Given the description of an element on the screen output the (x, y) to click on. 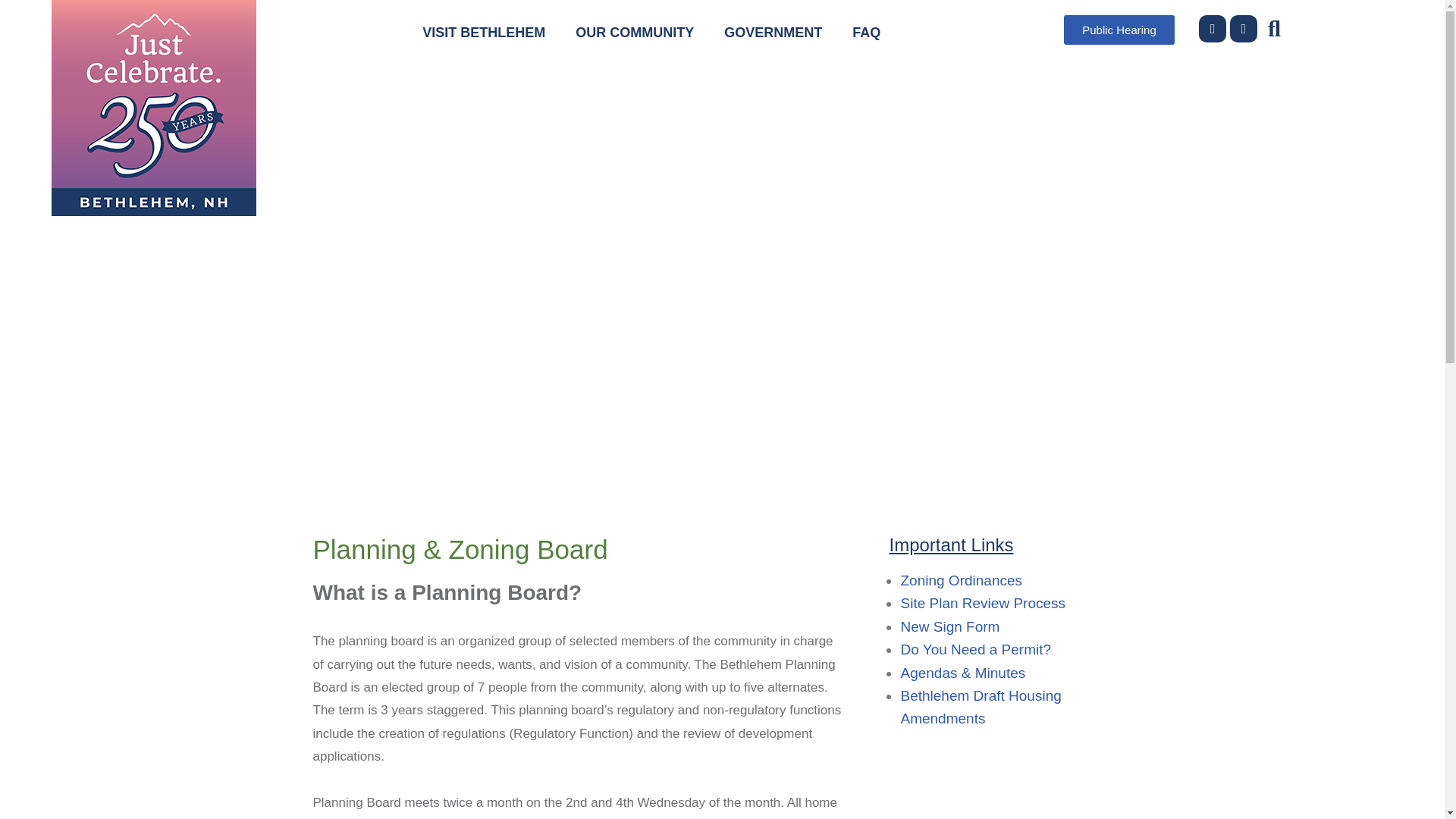
Skip to content (11, 31)
FAQ (866, 32)
GOVERNMENT (773, 32)
VISIT BETHLEHEM (483, 32)
OUR COMMUNITY (634, 32)
